Given the description of an element on the screen output the (x, y) to click on. 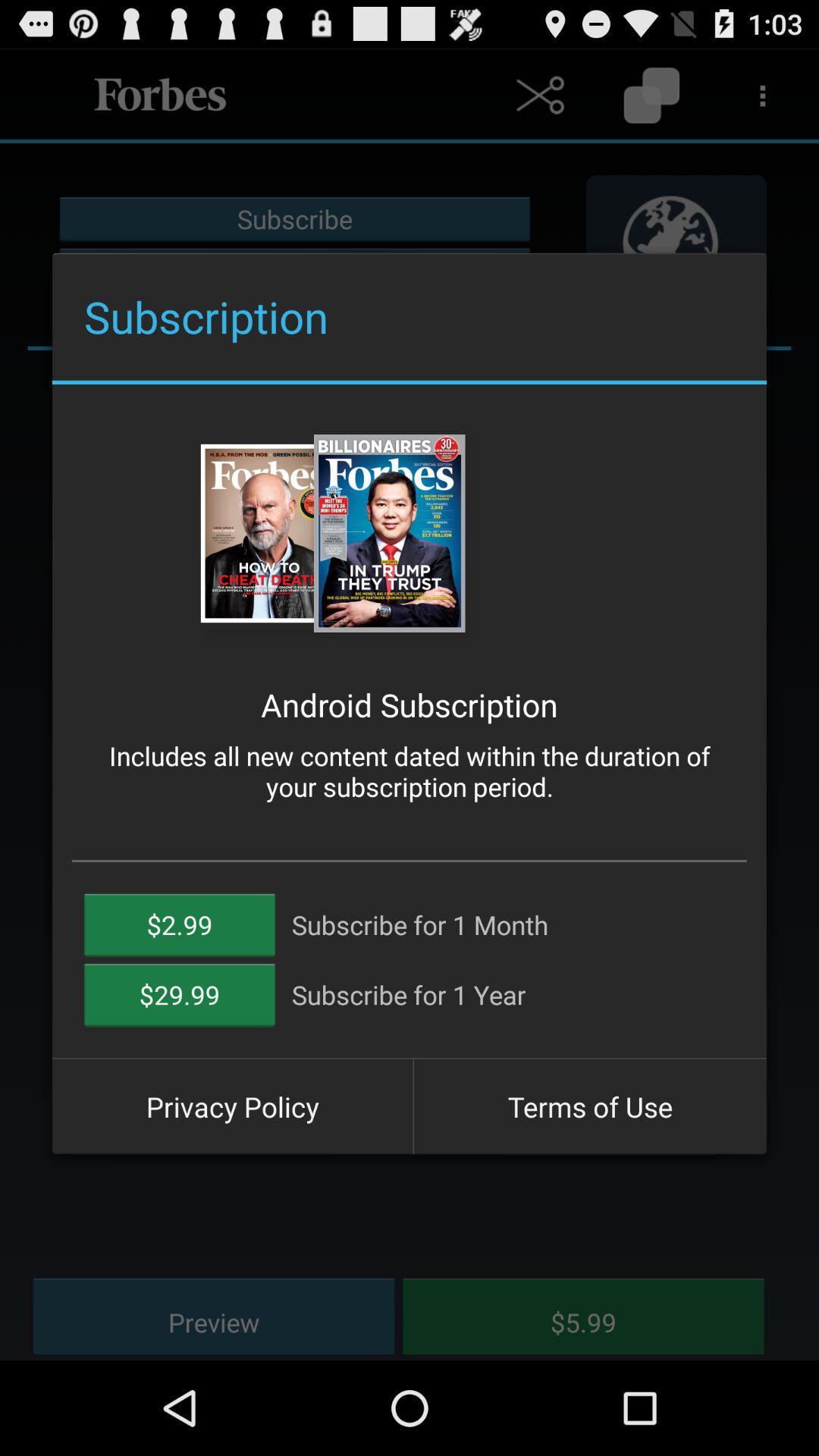
choose button to the left of the terms of use icon (232, 1106)
